Given the description of an element on the screen output the (x, y) to click on. 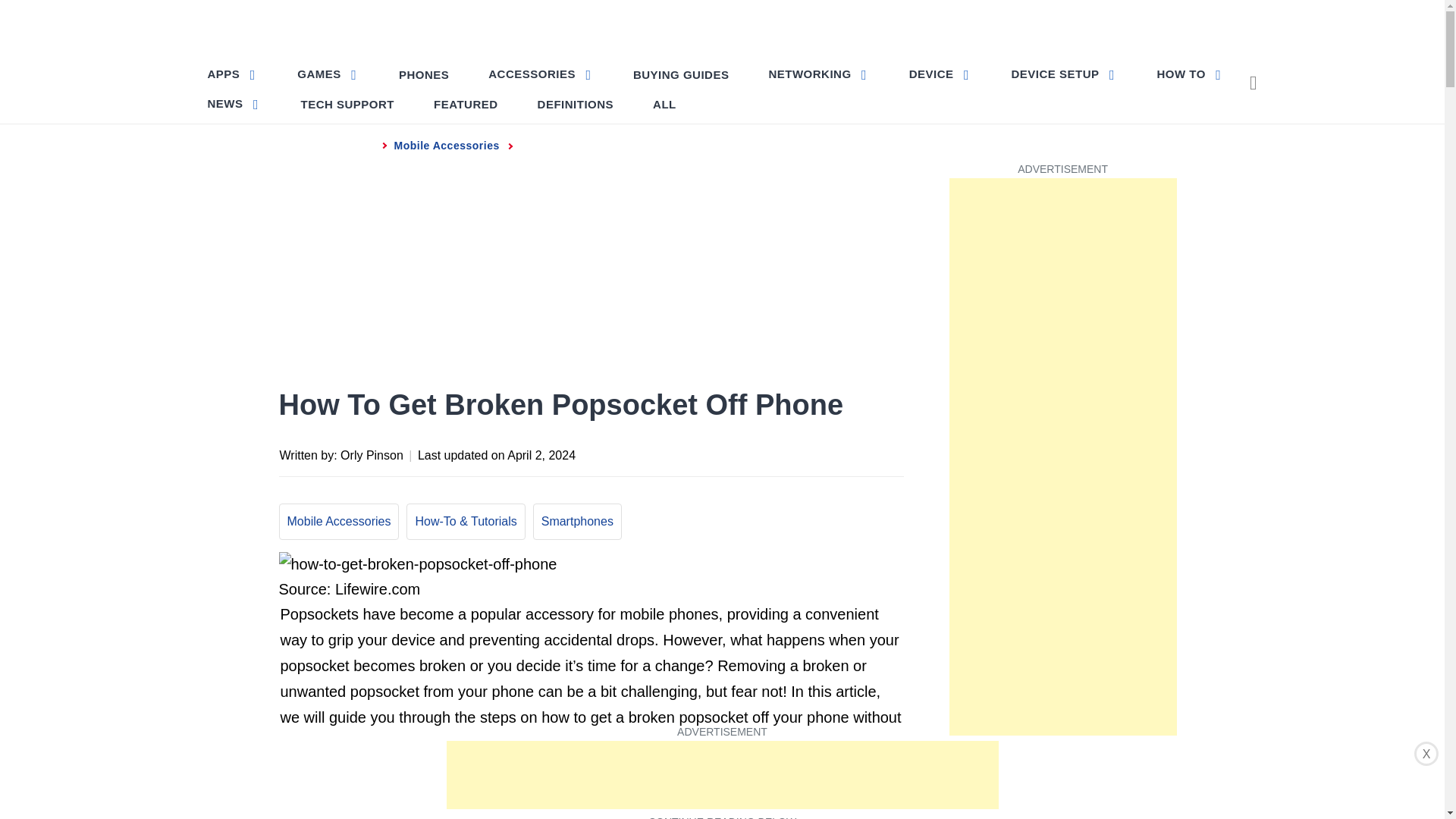
GAMES (327, 73)
Share on Pinterest (800, 453)
Share on twitter (769, 453)
Mail the Link (890, 453)
PHONES (424, 74)
NETWORKING (818, 73)
Copy to Clipboard (860, 453)
BUYING GUIDES (681, 74)
ACCESSORIES (540, 73)
Share on Whatsapp (829, 453)
DEVICE (940, 73)
APPS (233, 73)
Share on facebook (740, 453)
